Given the description of an element on the screen output the (x, y) to click on. 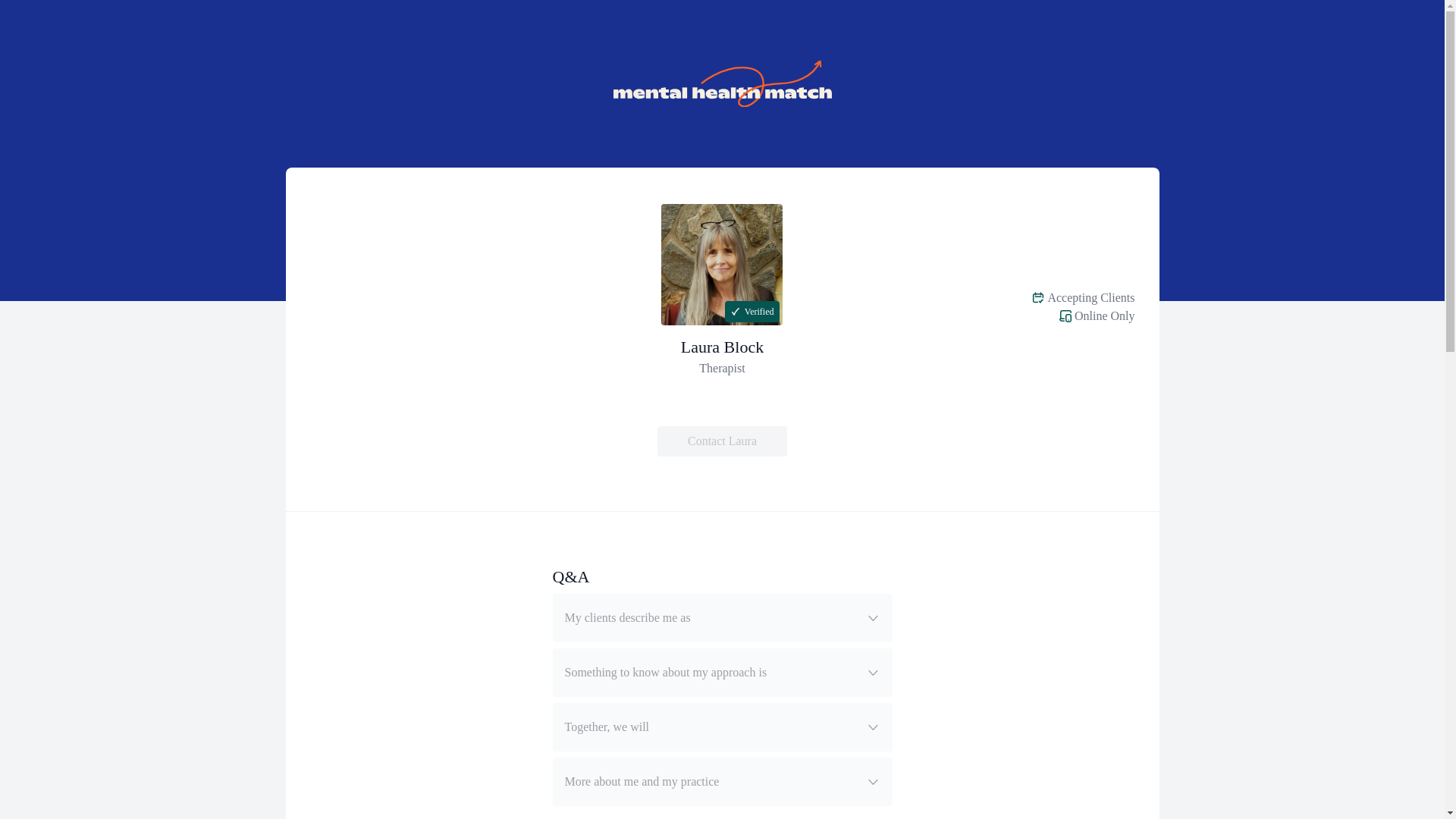
Together, we will (721, 726)
Contact Laura (722, 440)
My clients describe me as (721, 617)
Something to know about my approach is (721, 672)
More about me and my practice (721, 781)
